Given the description of an element on the screen output the (x, y) to click on. 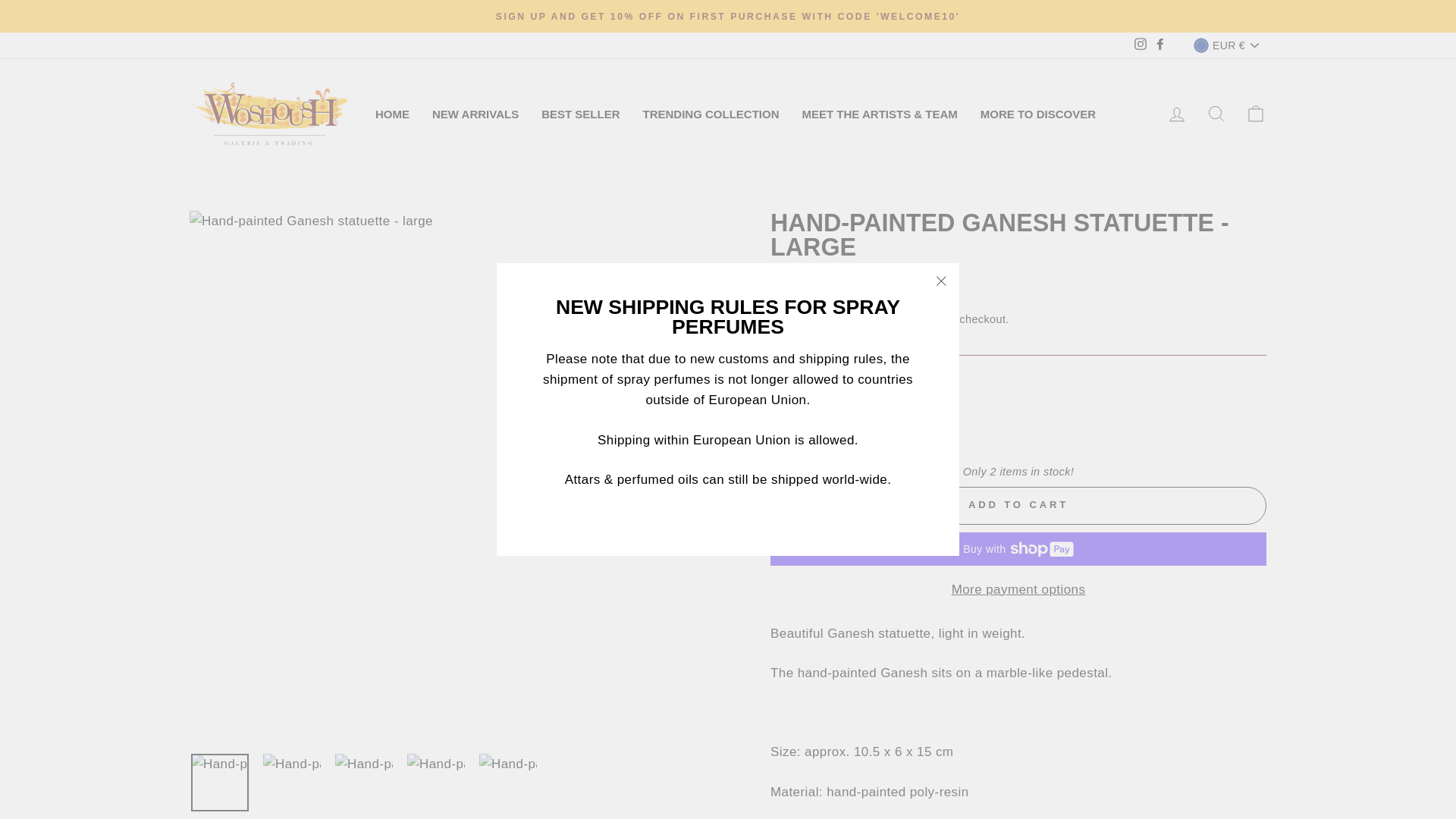
1 (800, 419)
